Given the description of an element on the screen output the (x, y) to click on. 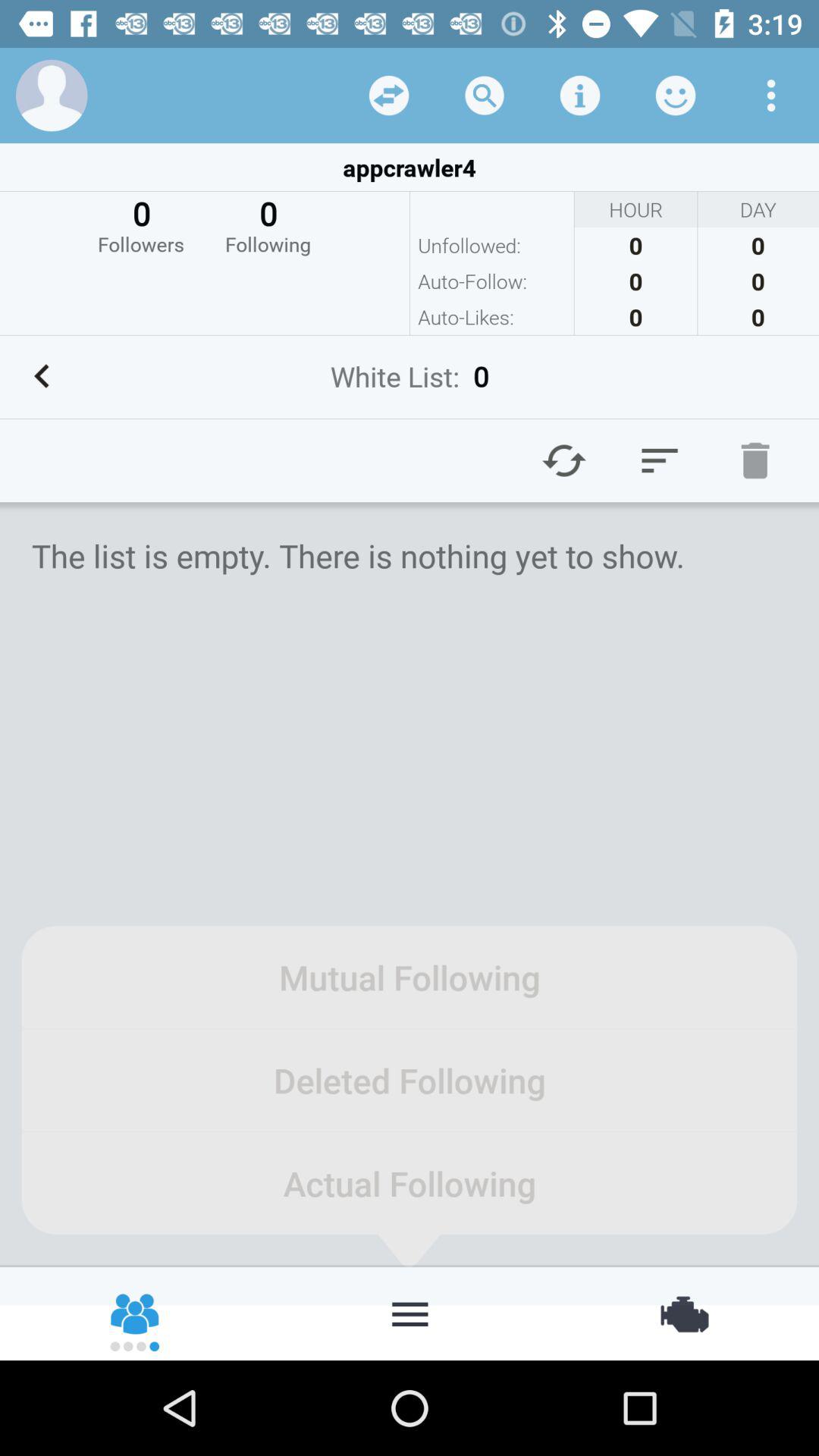
show options menu (771, 95)
